Given the description of an element on the screen output the (x, y) to click on. 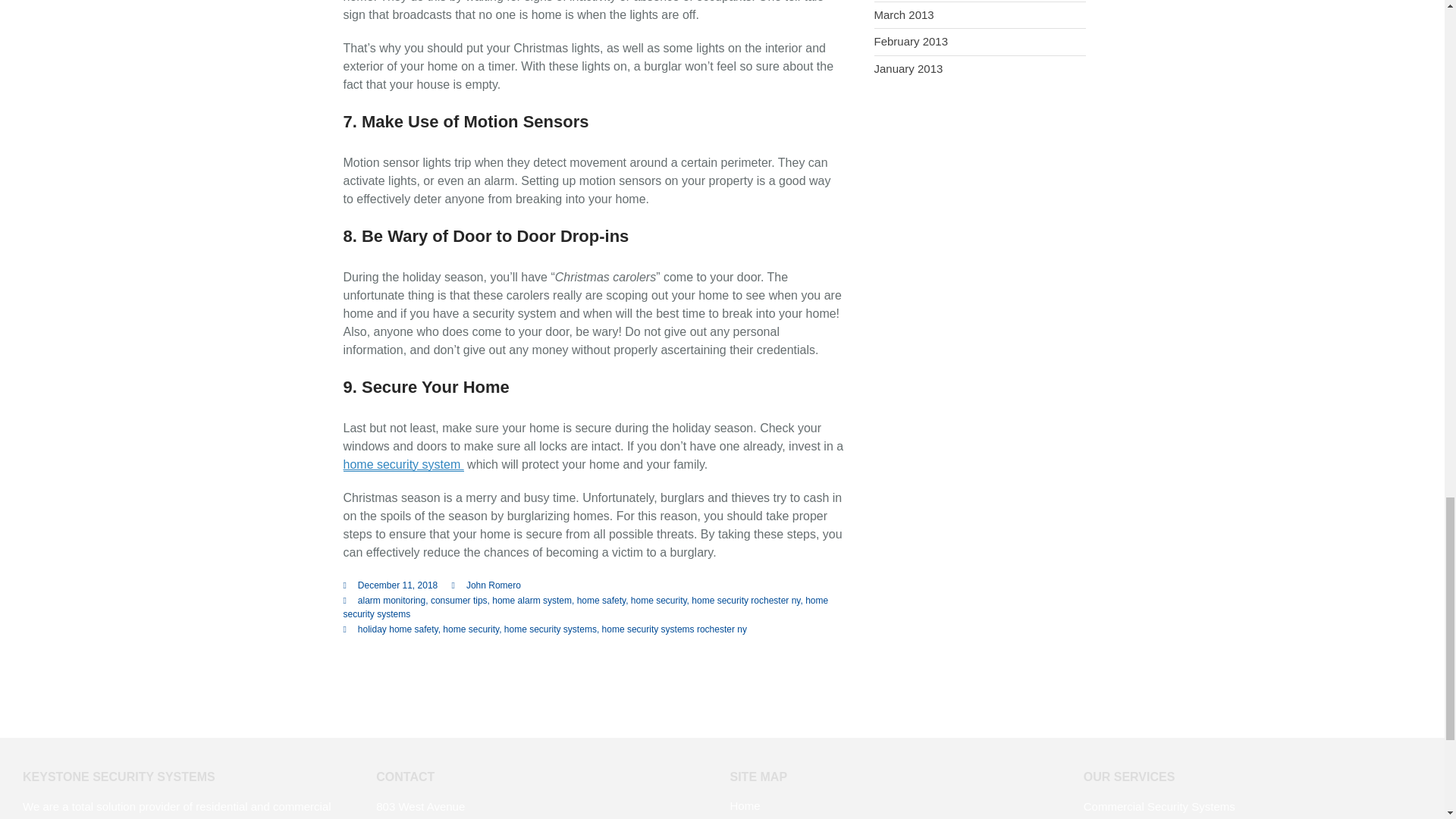
View all posts in home security rochester ny (745, 600)
View all posts in home alarm system (532, 600)
View all posts tagged home security (470, 629)
View all posts tagged home security systems (549, 629)
View all posts in consumer tips (458, 600)
alarm monitoring (391, 600)
home security system  (402, 464)
View all posts tagged home security systems rochester ny (674, 629)
View all posts in home security systems (585, 607)
View all posts in alarm monitoring (391, 600)
View all posts in home safety (601, 600)
View all posts tagged holiday home safety (398, 629)
View all posts in home security (658, 600)
John Romero (493, 584)
View all posts by John Romero (493, 584)
